Given the description of an element on the screen output the (x, y) to click on. 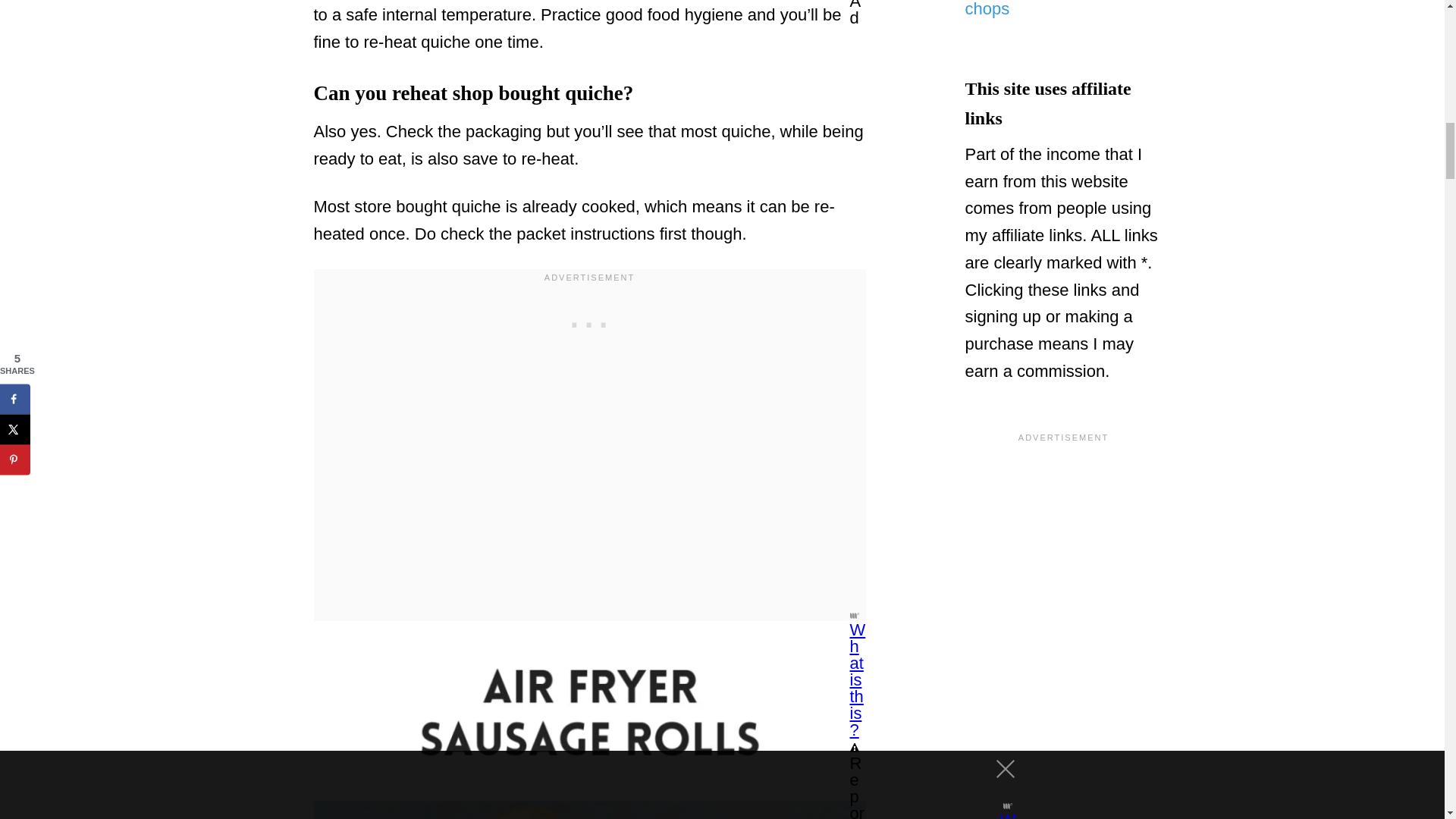
3rd party ad content (590, 321)
